Given the description of an element on the screen output the (x, y) to click on. 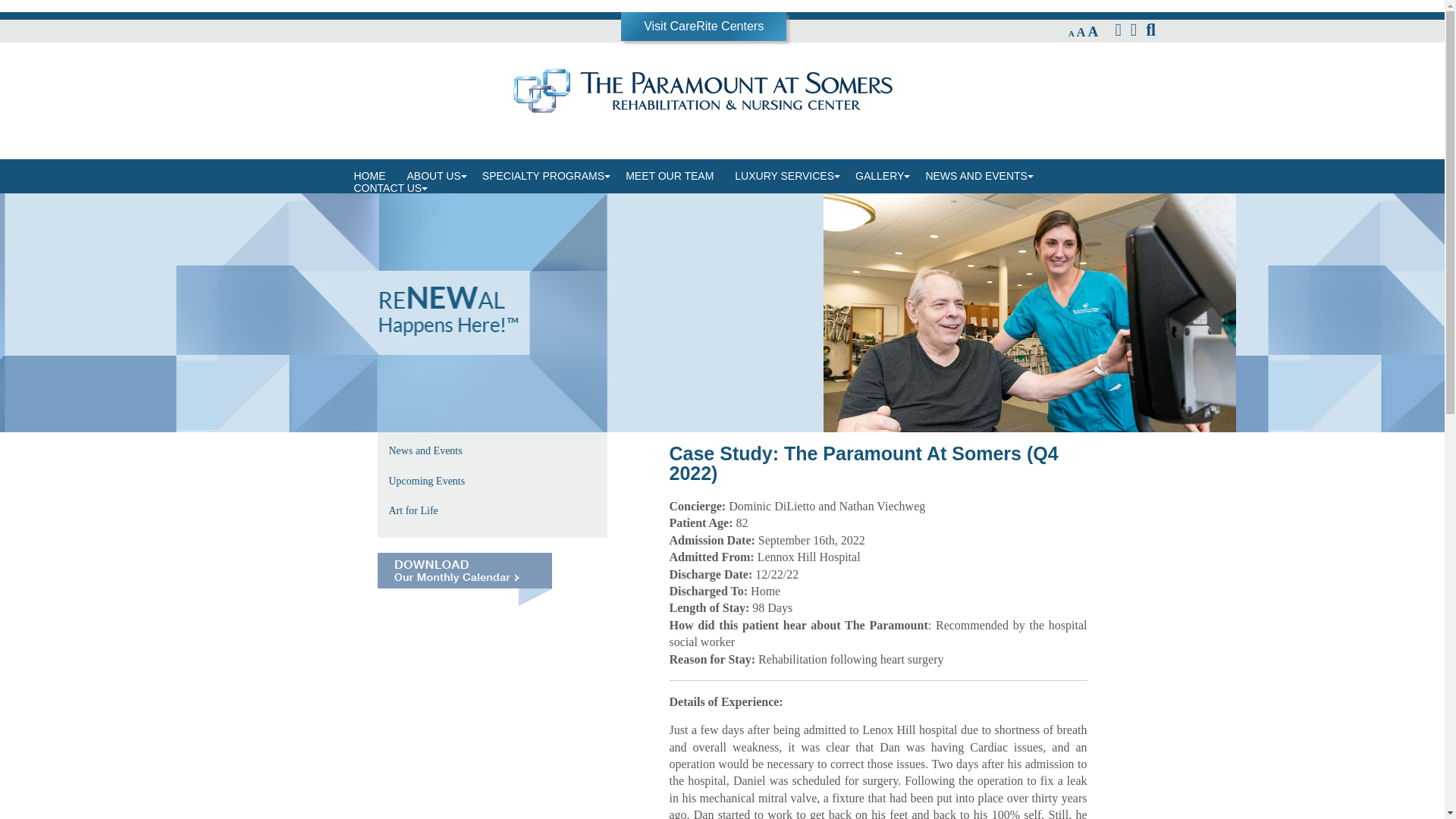
SPECIALTY PROGRAMS (542, 176)
LUXURY SERVICES (783, 176)
GALLERY (879, 176)
Visit CareRite Centers (702, 25)
NEWS AND EVENTS (976, 176)
MEET OUR TEAM (668, 176)
ABOUT US (433, 176)
HOME (369, 176)
